Given the description of an element on the screen output the (x, y) to click on. 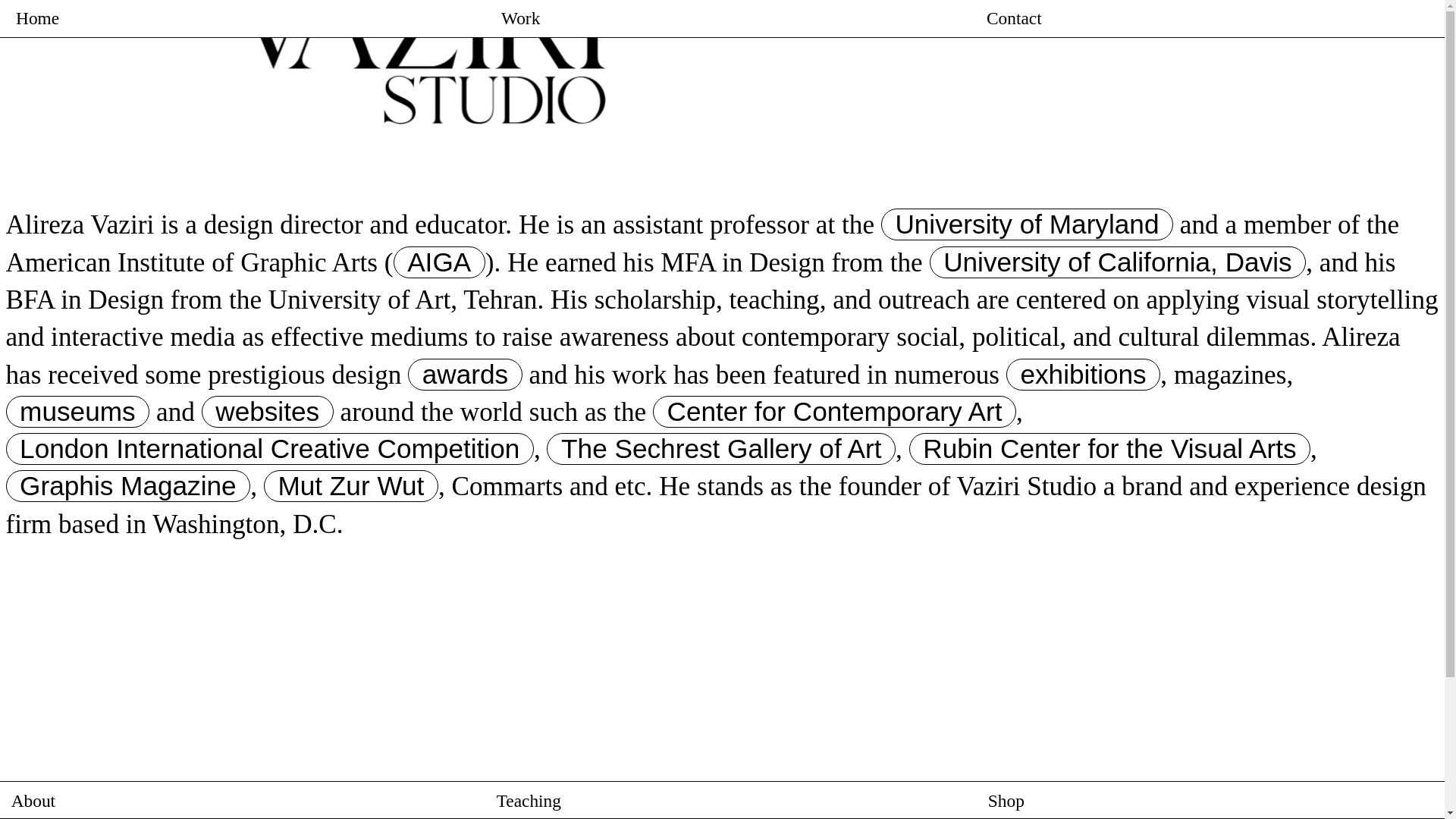
Works (727, 18)
The Sechrest Gallery of Art (721, 449)
exhibitions (1083, 374)
websites  (271, 411)
About (239, 800)
awards (464, 374)
Mut Zur Wut (350, 486)
Center for Contemporary Art (834, 411)
University of Maryland (1026, 224)
AIGA (438, 262)
Student Work (721, 800)
London International Creative Competition (269, 449)
University of California, Davis (1118, 262)
awards (464, 374)
Graphis Magazine (127, 486)
